Given the description of an element on the screen output the (x, y) to click on. 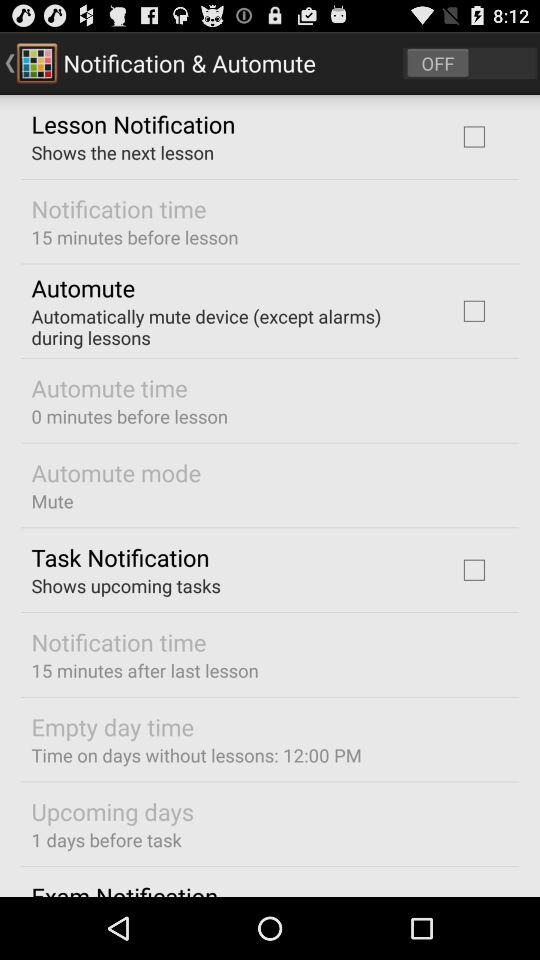
select app next to the notification & automute app (470, 62)
